Given the description of an element on the screen output the (x, y) to click on. 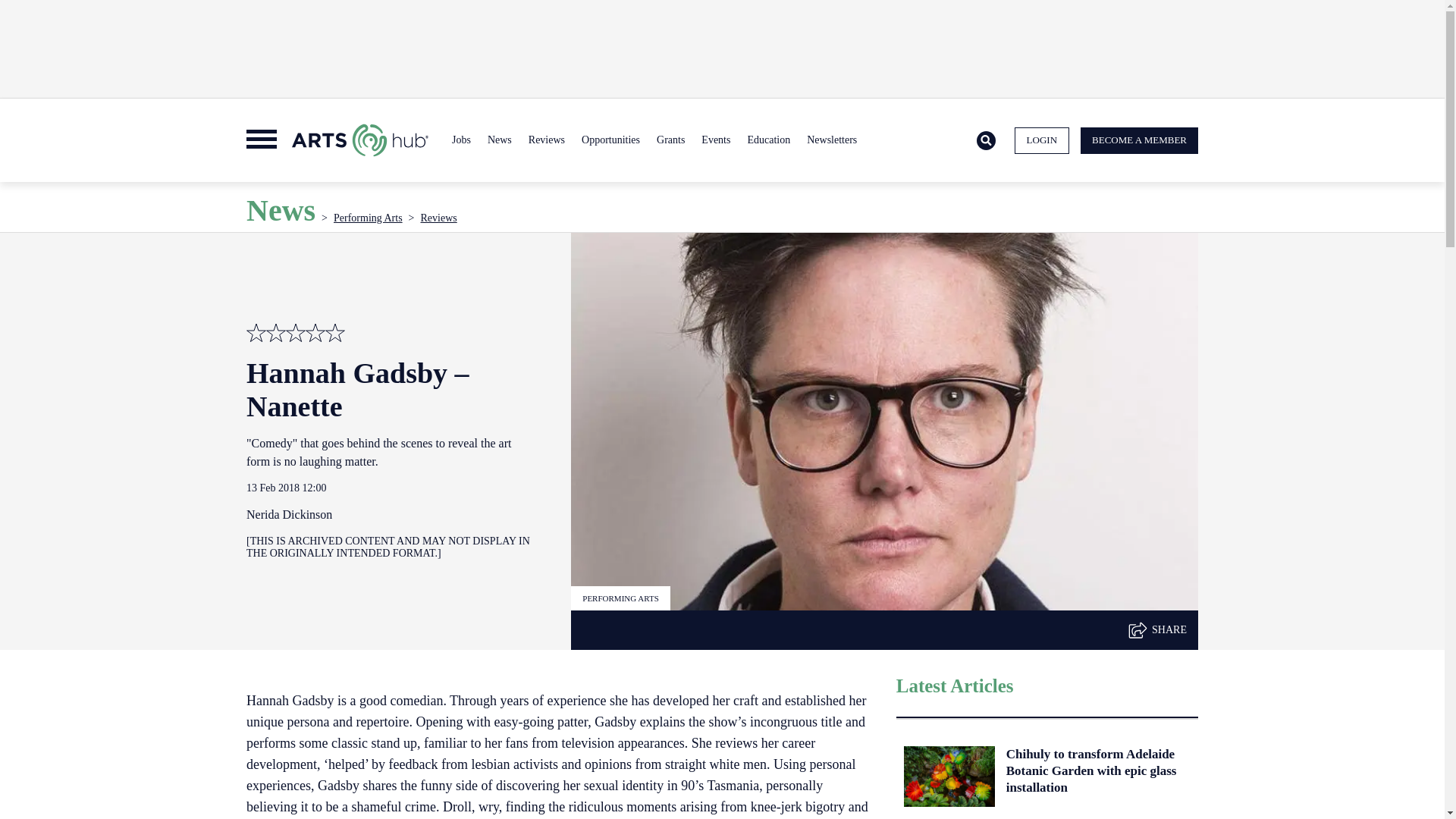
Reviews (546, 139)
Education (768, 139)
LOGIN (1041, 140)
Jobs (461, 139)
News (498, 139)
Stars (256, 332)
Opportunities (610, 139)
Search Icon (985, 140)
Stars (314, 332)
Newsletters (832, 139)
